Given the description of an element on the screen output the (x, y) to click on. 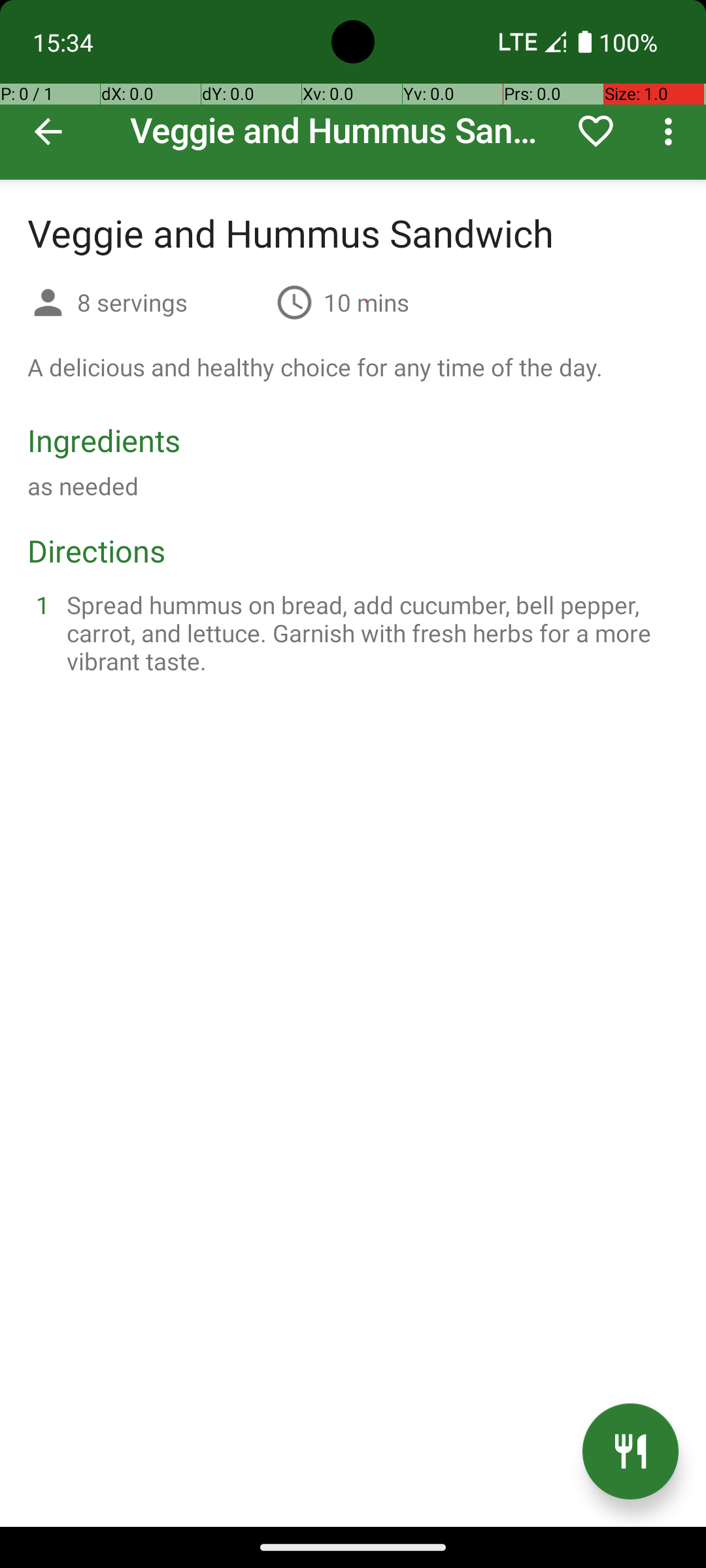
Veggie and Hummus Sandwich Element type: android.widget.FrameLayout (353, 89)
Spread hummus on bread, add cucumber, bell pepper, carrot, and lettuce. Garnish with fresh herbs for a more vibrant taste. Element type: android.widget.TextView (368, 632)
